Given the description of an element on the screen output the (x, y) to click on. 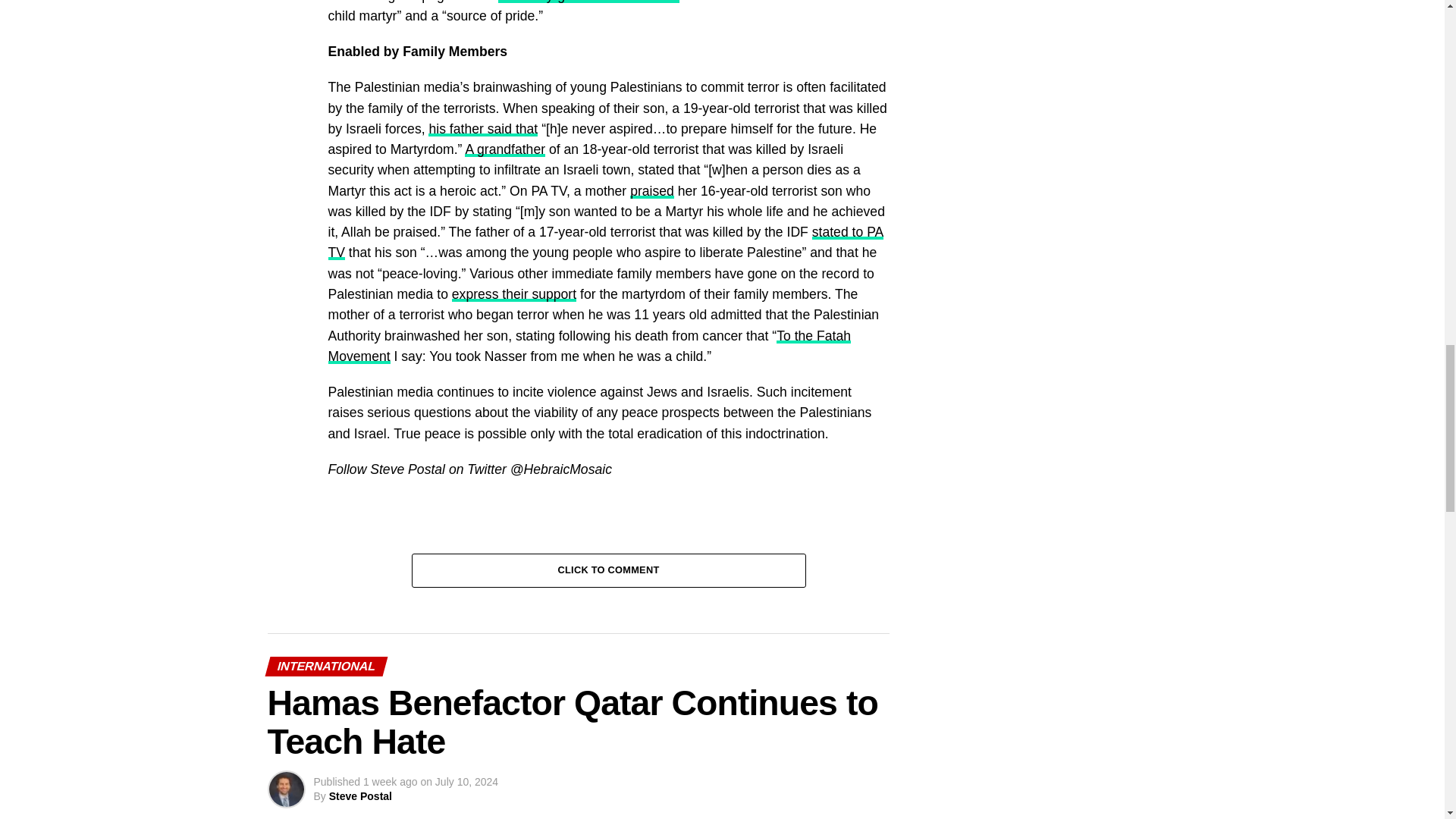
his father said that (482, 128)
secretary-general commended (588, 1)
Posts by Steve Postal (360, 796)
